Given the description of an element on the screen output the (x, y) to click on. 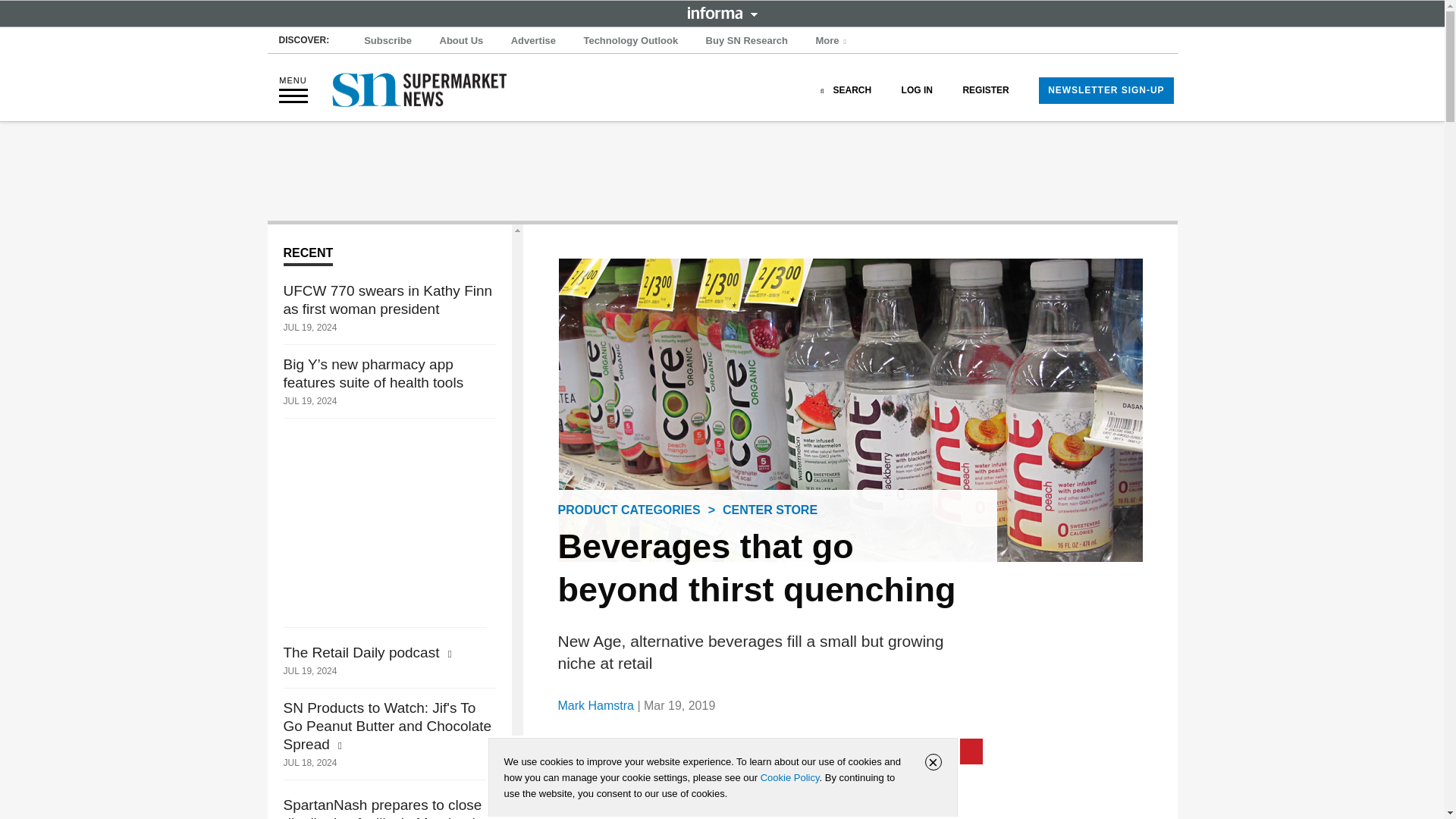
More (832, 41)
About Us (461, 41)
Technology Outlook (630, 41)
Advertise (533, 41)
INFORMA (722, 12)
Buy SN Research (746, 41)
Subscribe (387, 41)
Cookie Policy (789, 777)
